Given the description of an element on the screen output the (x, y) to click on. 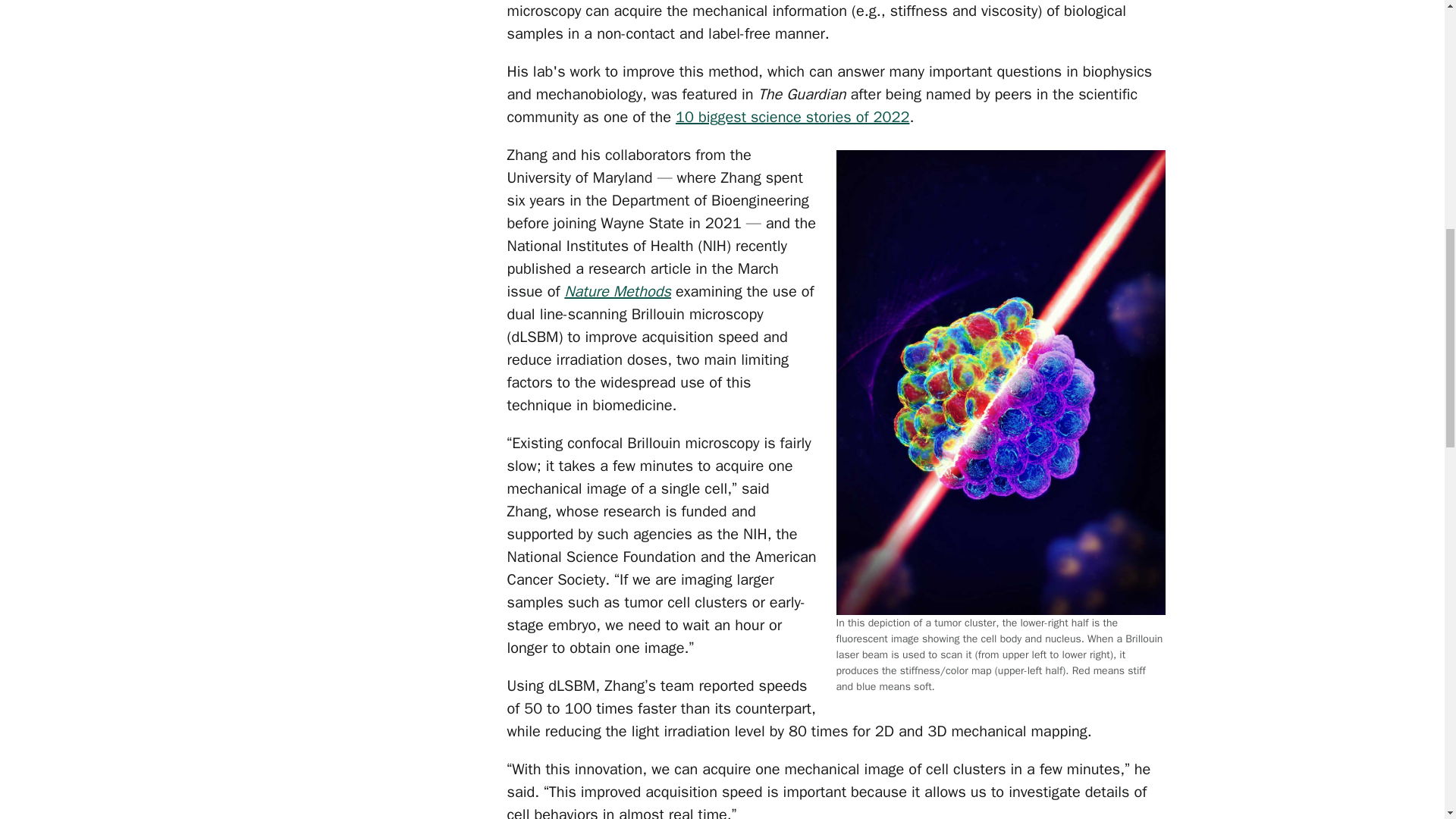
10 biggest science stories of 2022 (791, 116)
Nature Methods (617, 291)
